Given the description of an element on the screen output the (x, y) to click on. 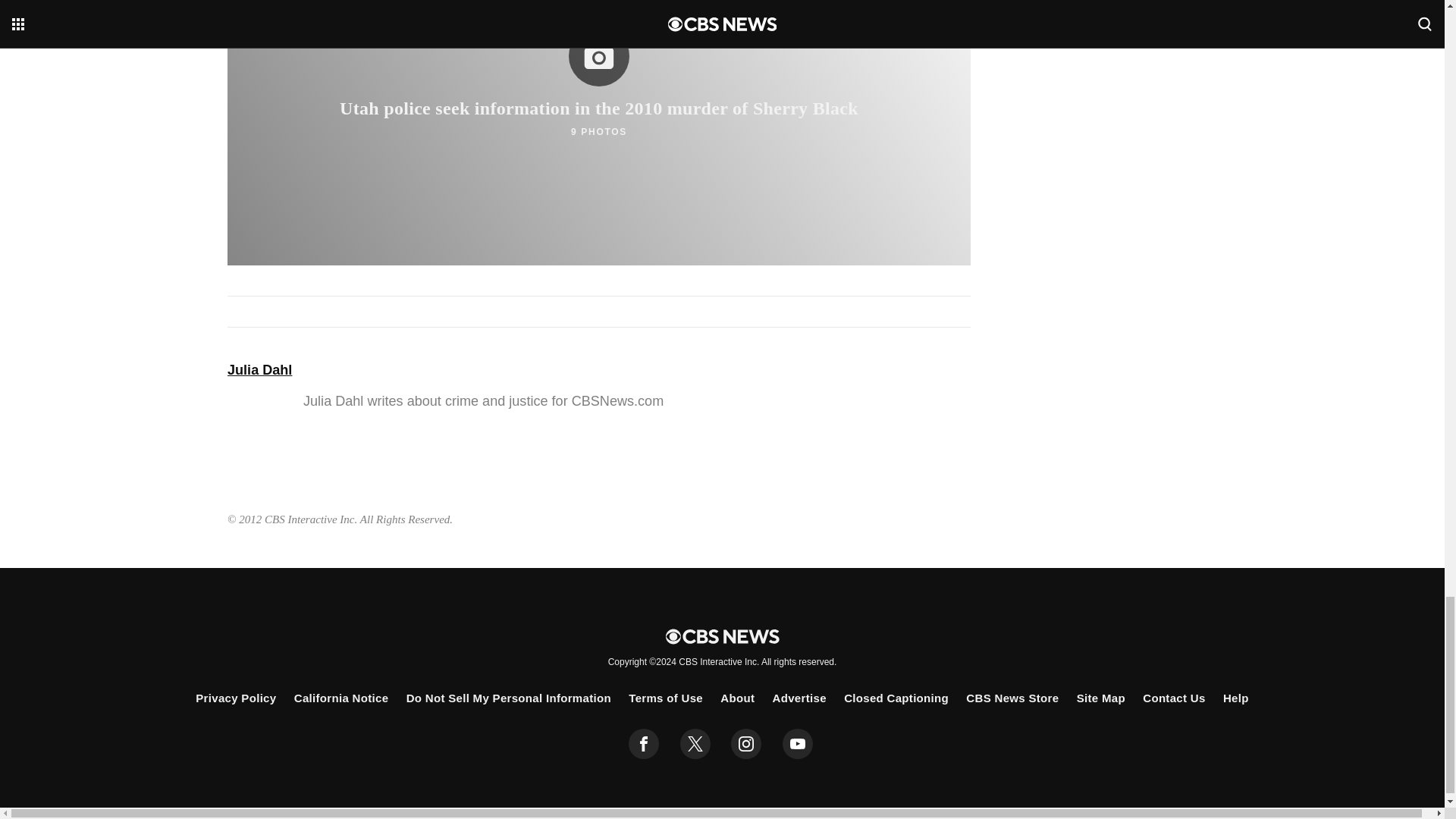
instagram (745, 743)
twitter (694, 743)
facebook (643, 743)
youtube (797, 743)
